Given the description of an element on the screen output the (x, y) to click on. 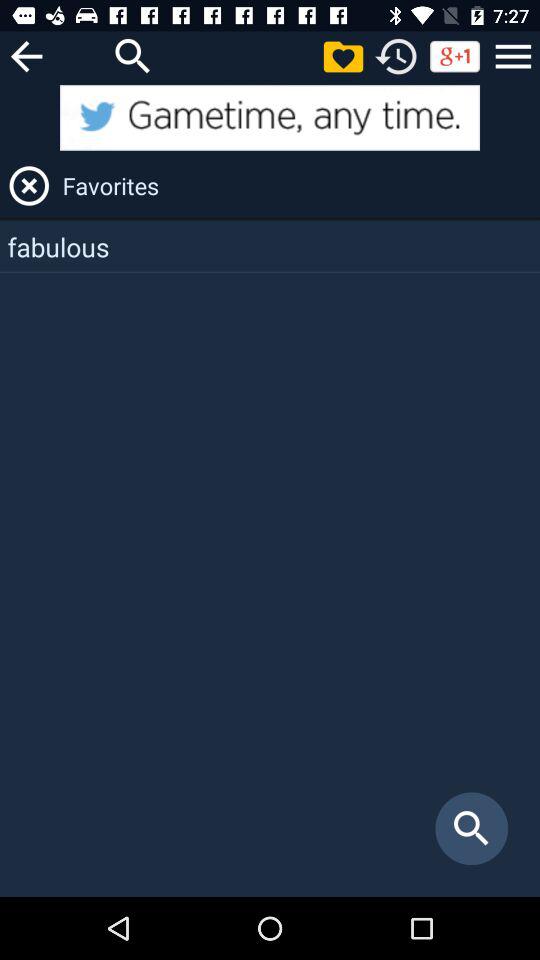
close (29, 185)
